Given the description of an element on the screen output the (x, y) to click on. 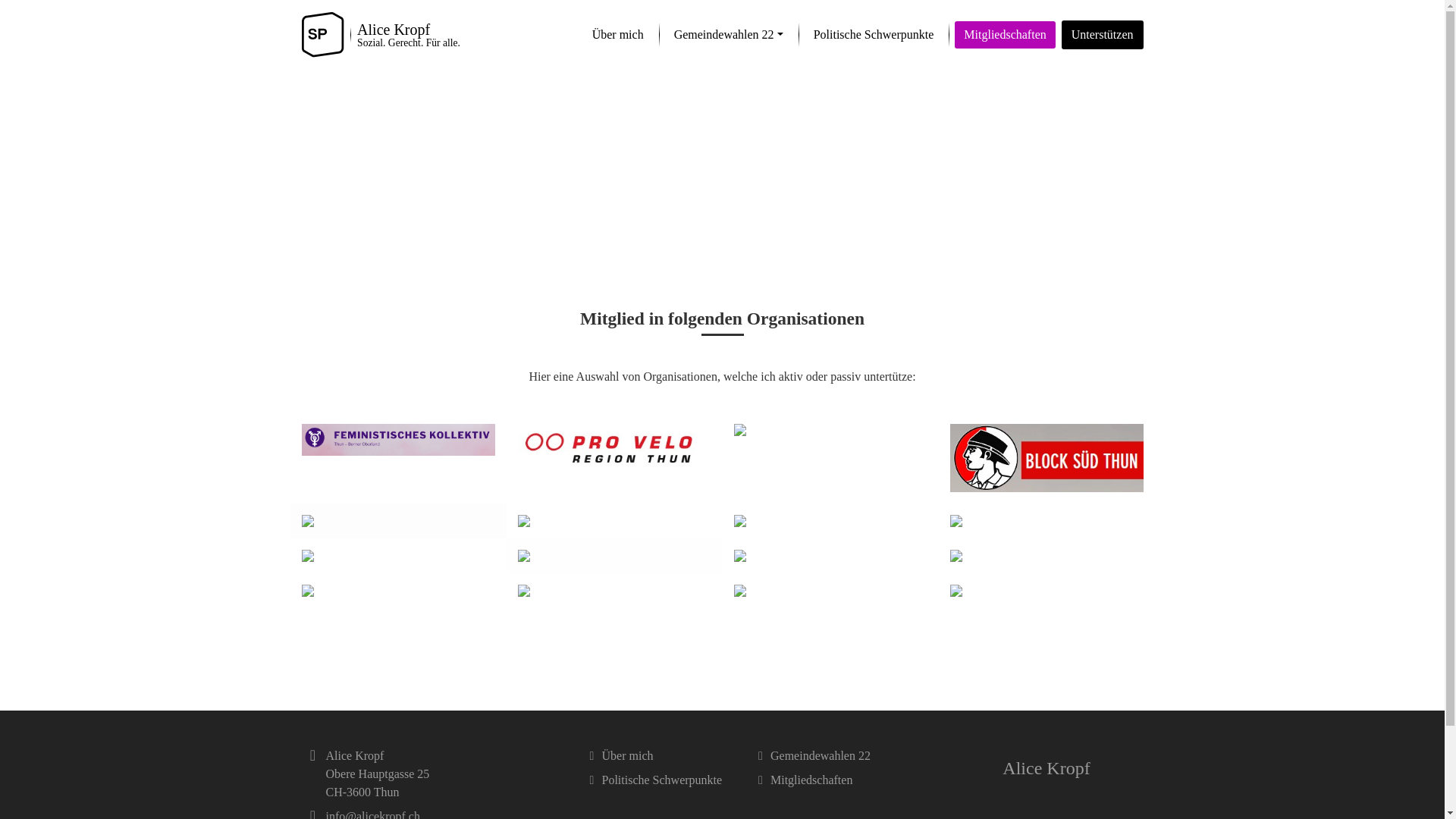
Gemeindewahlen 22 Element type: text (842, 755)
Mitgliedschaften Element type: text (842, 780)
Politische Schwerpunkte Element type: text (873, 34)
Politische Schwerpunkte Element type: text (674, 780)
Gemeindewahlen 22 Element type: text (728, 34)
Mitgliedschaften Element type: text (1004, 34)
